Given the description of an element on the screen output the (x, y) to click on. 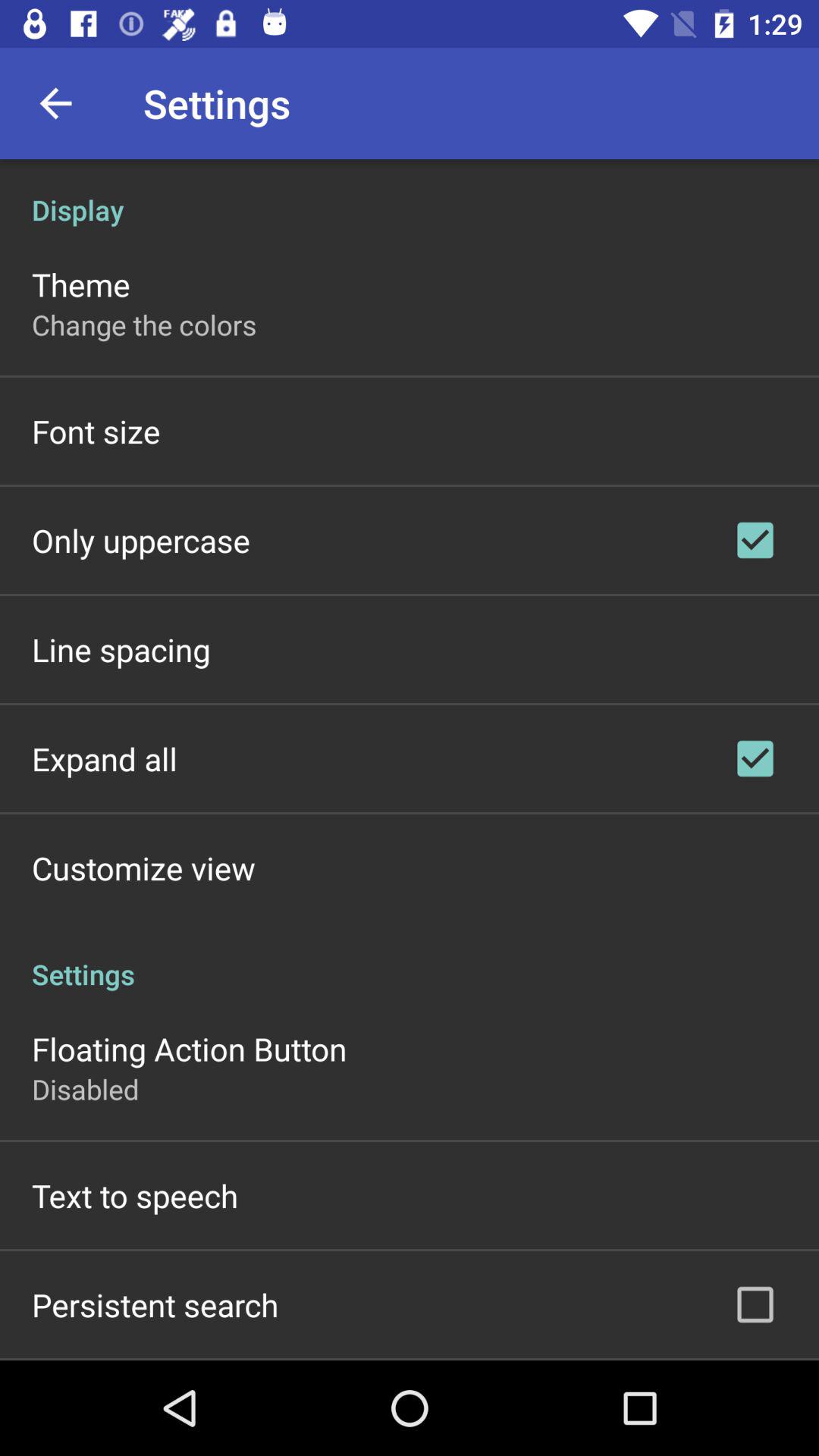
launch item below change the colors item (95, 430)
